Given the description of an element on the screen output the (x, y) to click on. 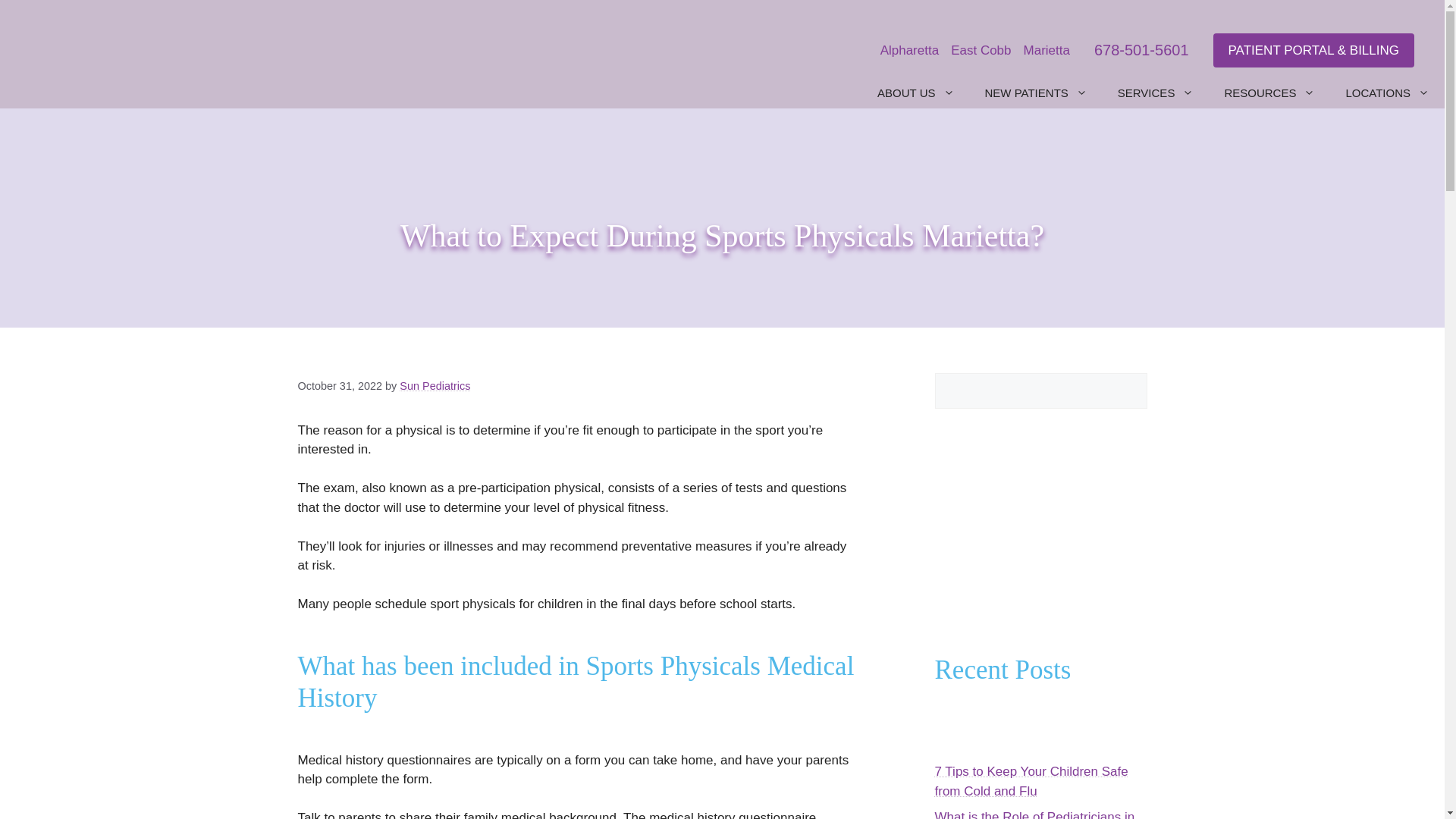
Sun Pediatrics (434, 386)
Alpharetta (909, 50)
East Cobb (980, 50)
RESOURCES (1269, 92)
Marietta (1046, 50)
ABOUT US (915, 92)
SERVICES (1155, 92)
View all posts by Sun Pediatrics (434, 386)
NEW PATIENTS (1035, 92)
678-501-5601 (1141, 49)
